Given the description of an element on the screen output the (x, y) to click on. 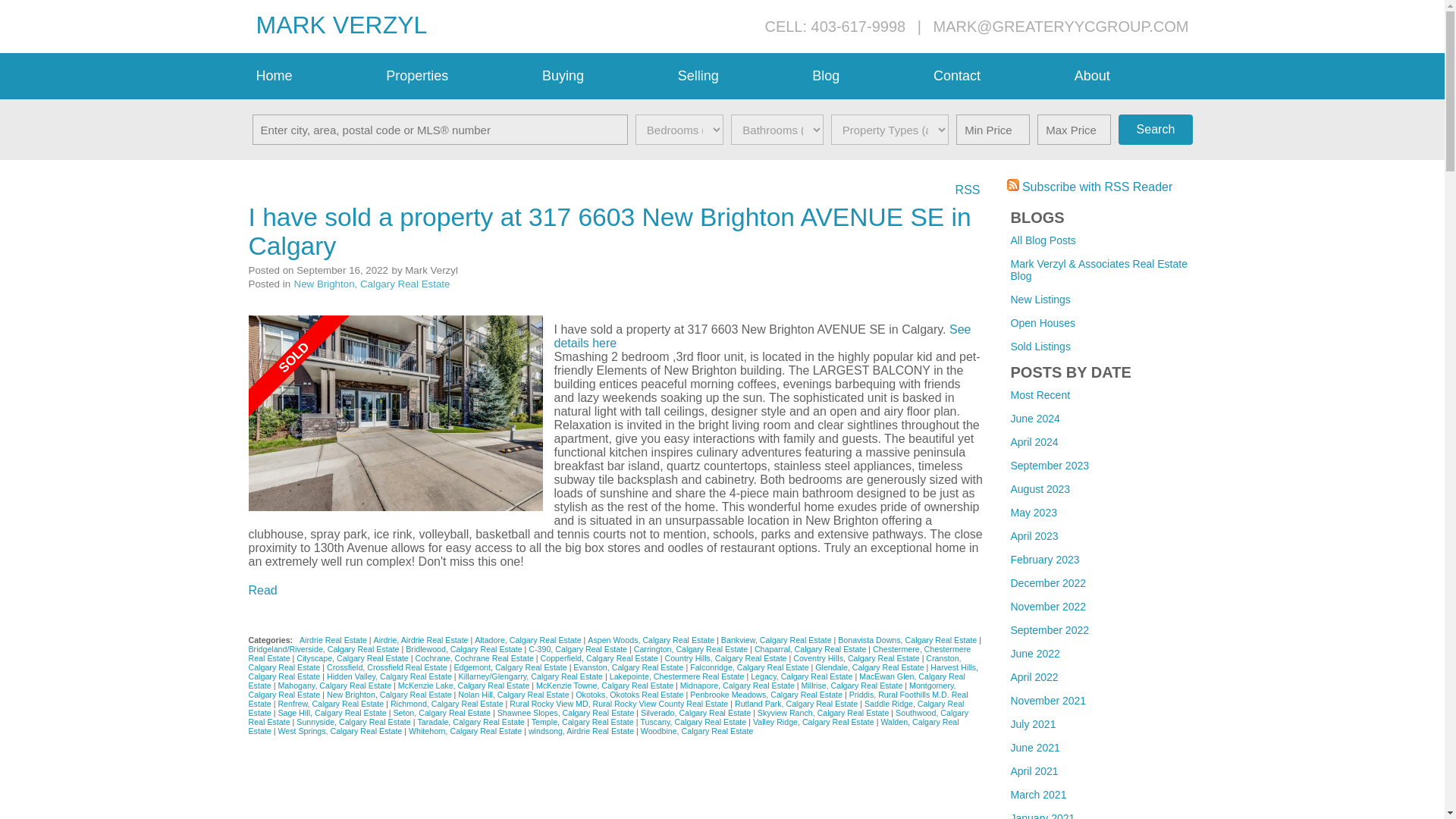
April 2023 (1034, 535)
Most Recent (1040, 395)
May 2023 (1033, 512)
February 2023 (1044, 559)
April 2024 (1034, 441)
June 2024 (1034, 418)
Subscribe with RSS Reader (1090, 186)
September 2023 (1049, 465)
Properties (456, 76)
Selling (737, 76)
